Given the description of an element on the screen output the (x, y) to click on. 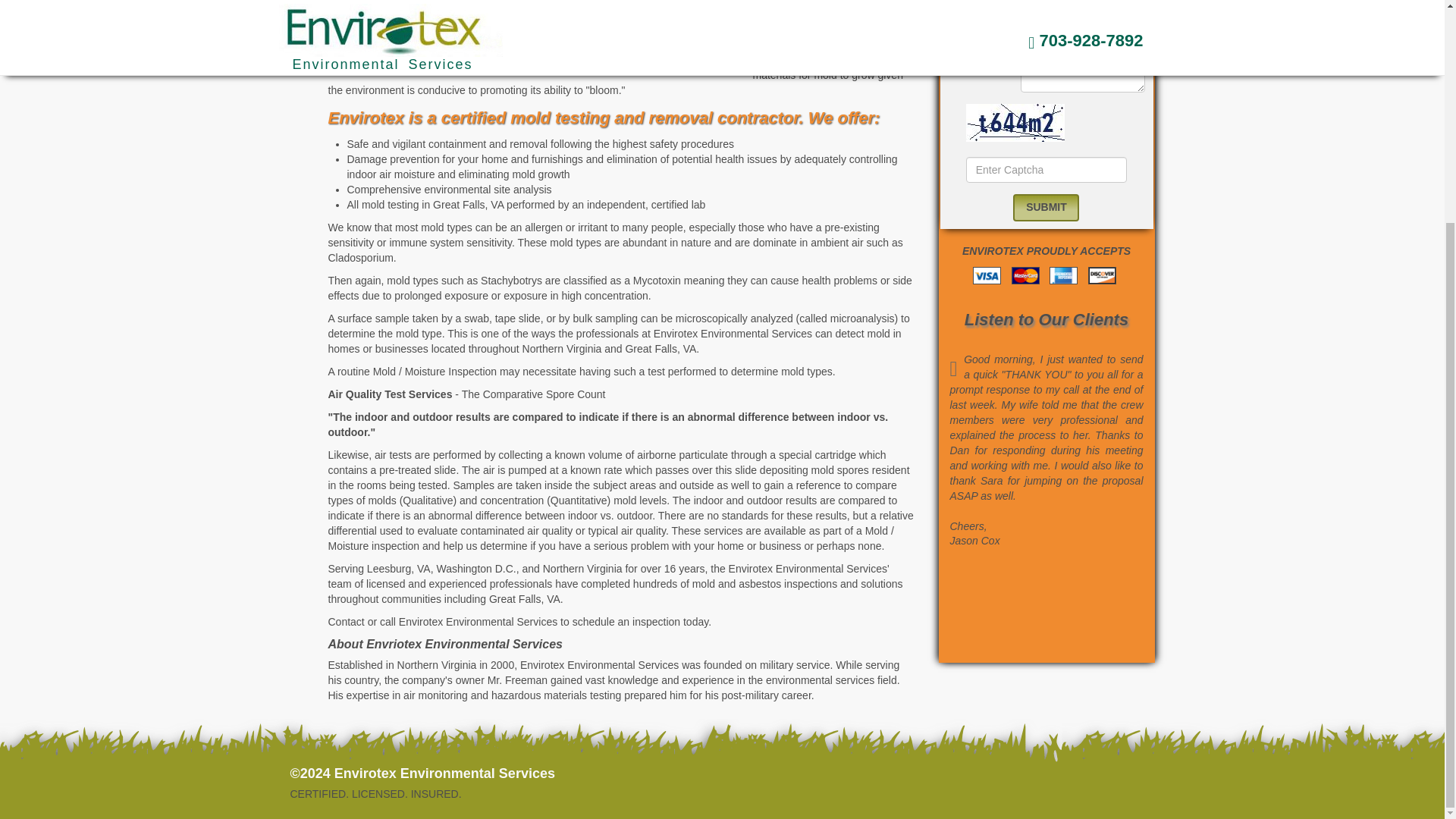
SUBMIT (1045, 207)
